Given the description of an element on the screen output the (x, y) to click on. 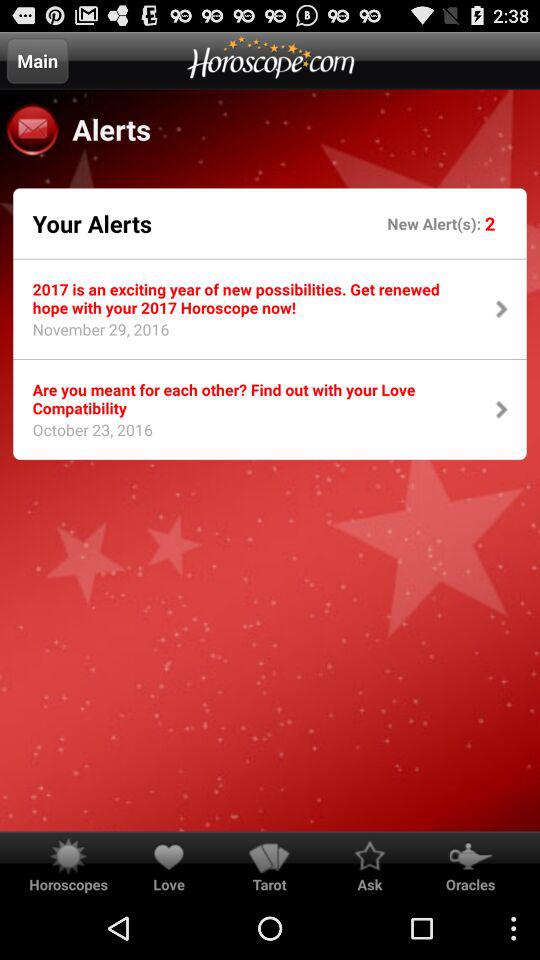
scroll to the are you meant item (250, 398)
